Given the description of an element on the screen output the (x, y) to click on. 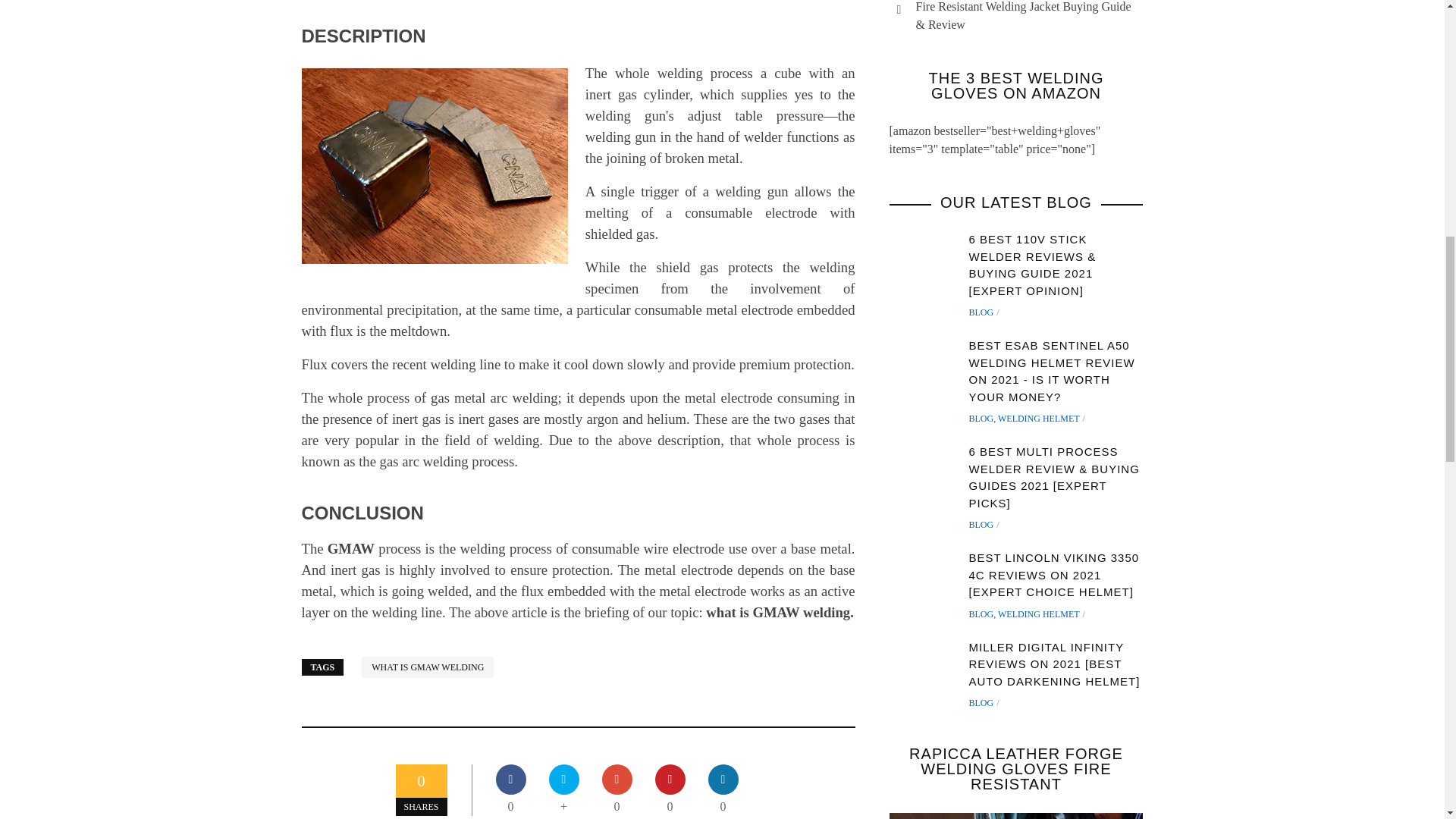
WHAT IS GMAW WELDING (427, 667)
View all posts tagged what is GMAW welding (427, 667)
